Given the description of an element on the screen output the (x, y) to click on. 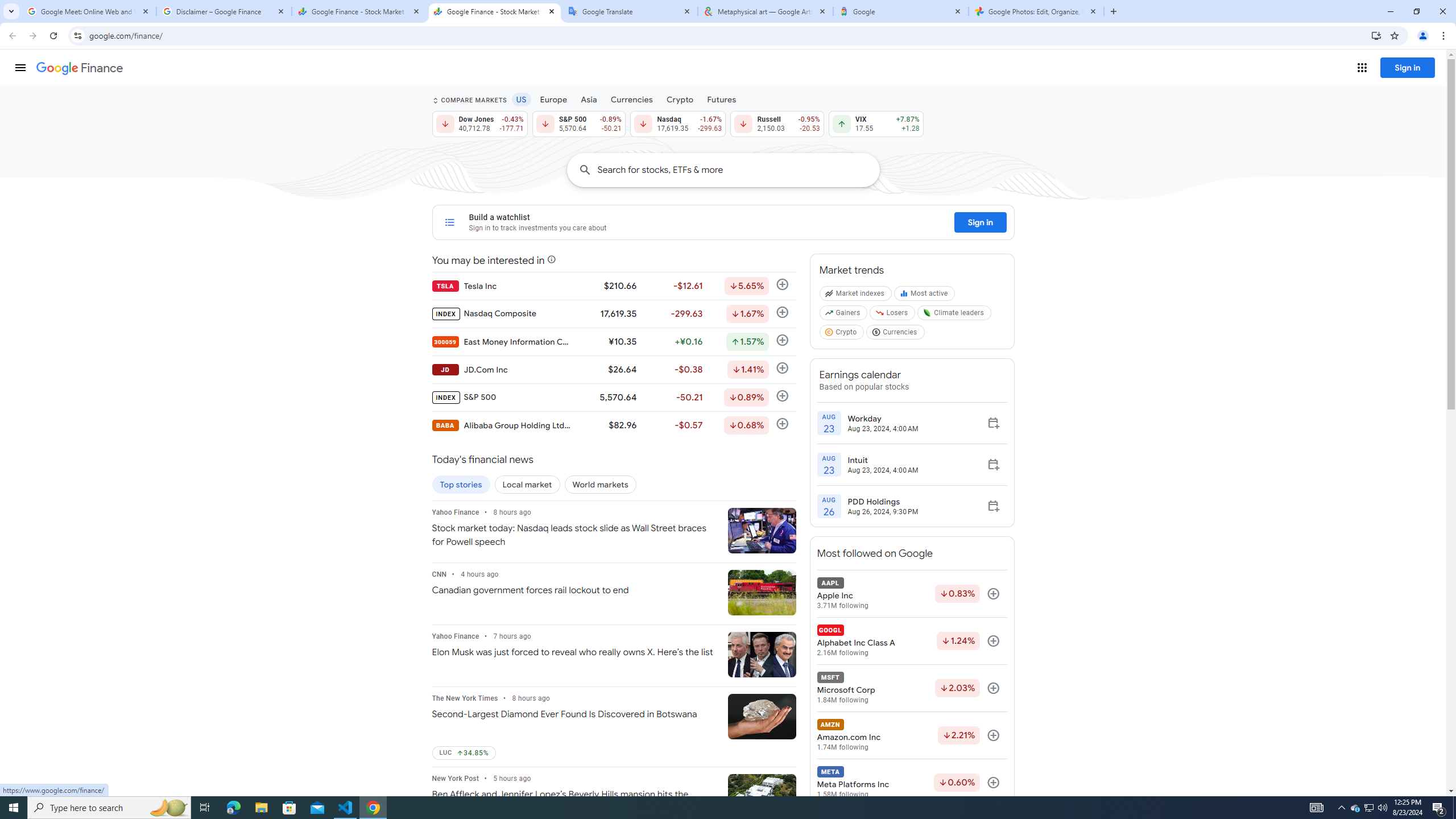
COMPARE MARKETS (468, 100)
GLeaf logo Climate leaders (954, 315)
Russell 2,150.03 Down by 0.95% -20.53 (777, 123)
Currencies (631, 99)
Google Translate (630, 11)
Europe (553, 99)
MSFT Microsoft Corp 1.84M following Down by 2.03% Follow (911, 688)
Nasdaq 17,619.35 Down by 1.67% -299.63 (678, 123)
